Given the description of an element on the screen output the (x, y) to click on. 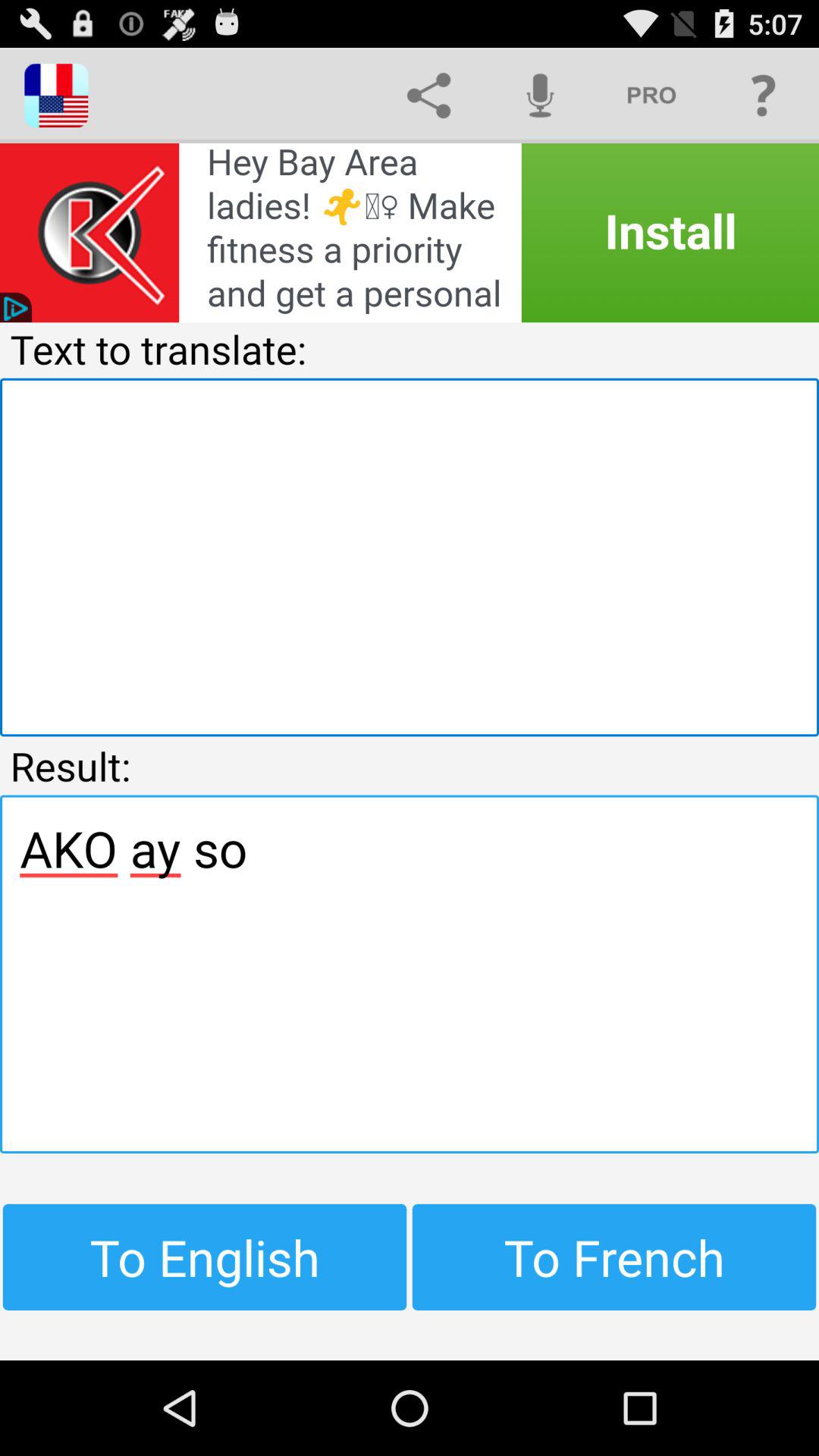
tap the ako ay so app (409, 974)
